Given the description of an element on the screen output the (x, y) to click on. 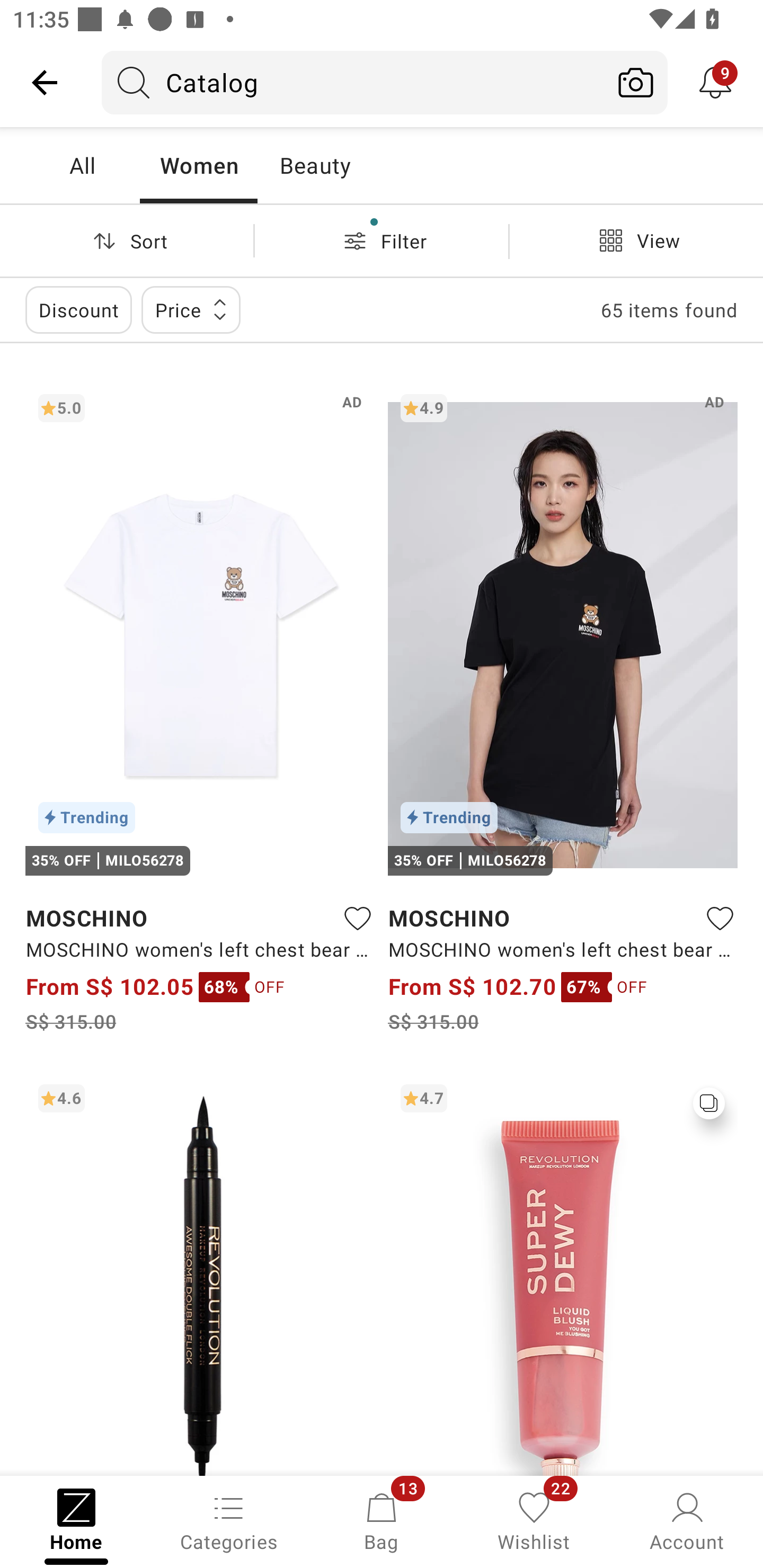
Navigate up (44, 82)
Catalog (352, 82)
All (82, 165)
Beauty (314, 165)
Sort (126, 240)
Filter (381, 240)
View (636, 240)
Discount (78, 309)
Price (190, 309)
4.6 (200, 1272)
4.7 (562, 1272)
Categories (228, 1519)
Bag, 13 new notifications Bag (381, 1519)
Wishlist, 22 new notifications Wishlist (533, 1519)
Account (686, 1519)
